Given the description of an element on the screen output the (x, y) to click on. 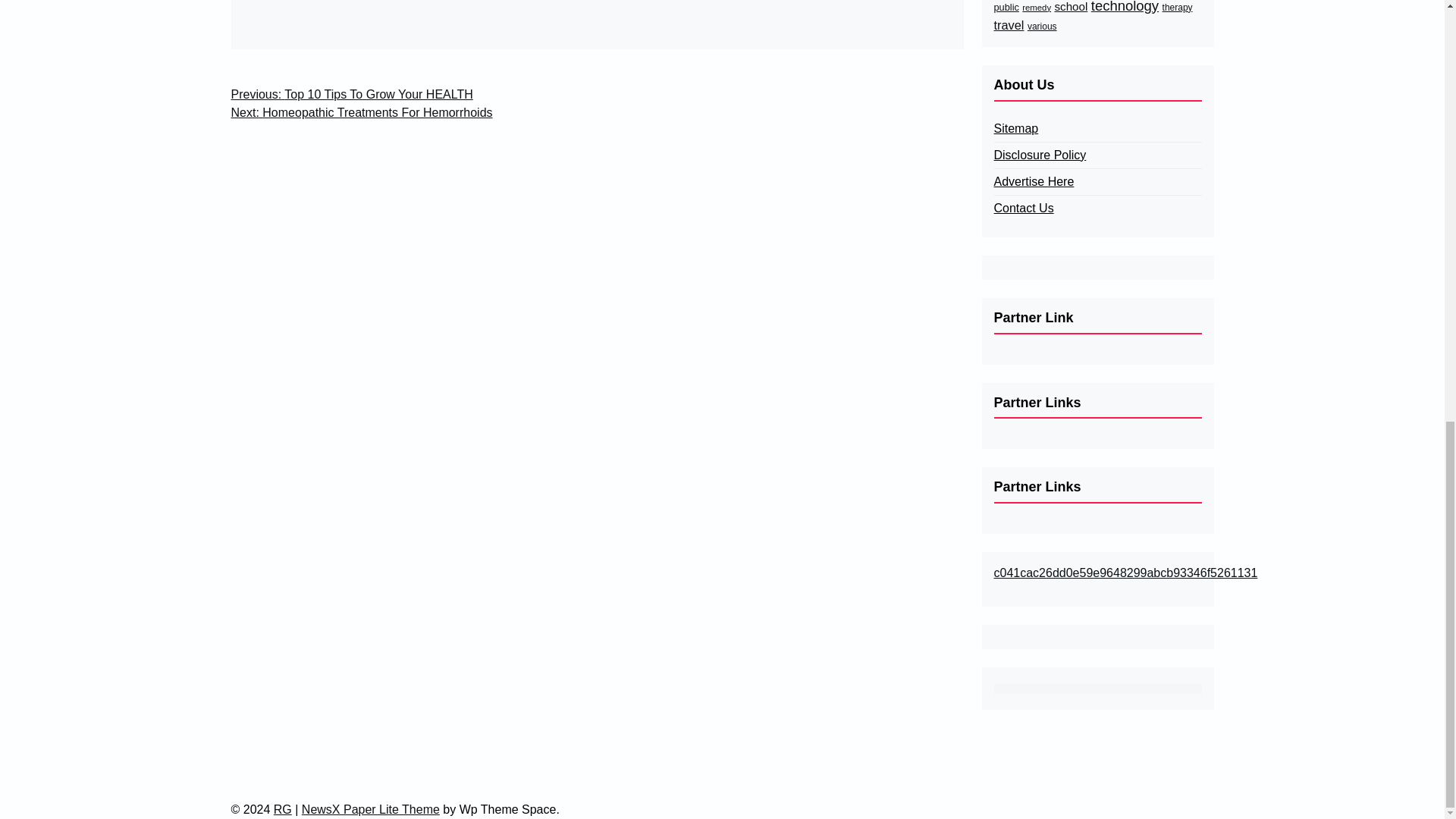
medicine (437, 0)
information (382, 0)
Previous: Top 10 Tips To Grow Your HEALTH (350, 94)
Next: Homeopathic Treatments For Hemorrhoids (361, 113)
abcnewscom (278, 0)
Seedbacklink (1096, 688)
